Given the description of an element on the screen output the (x, y) to click on. 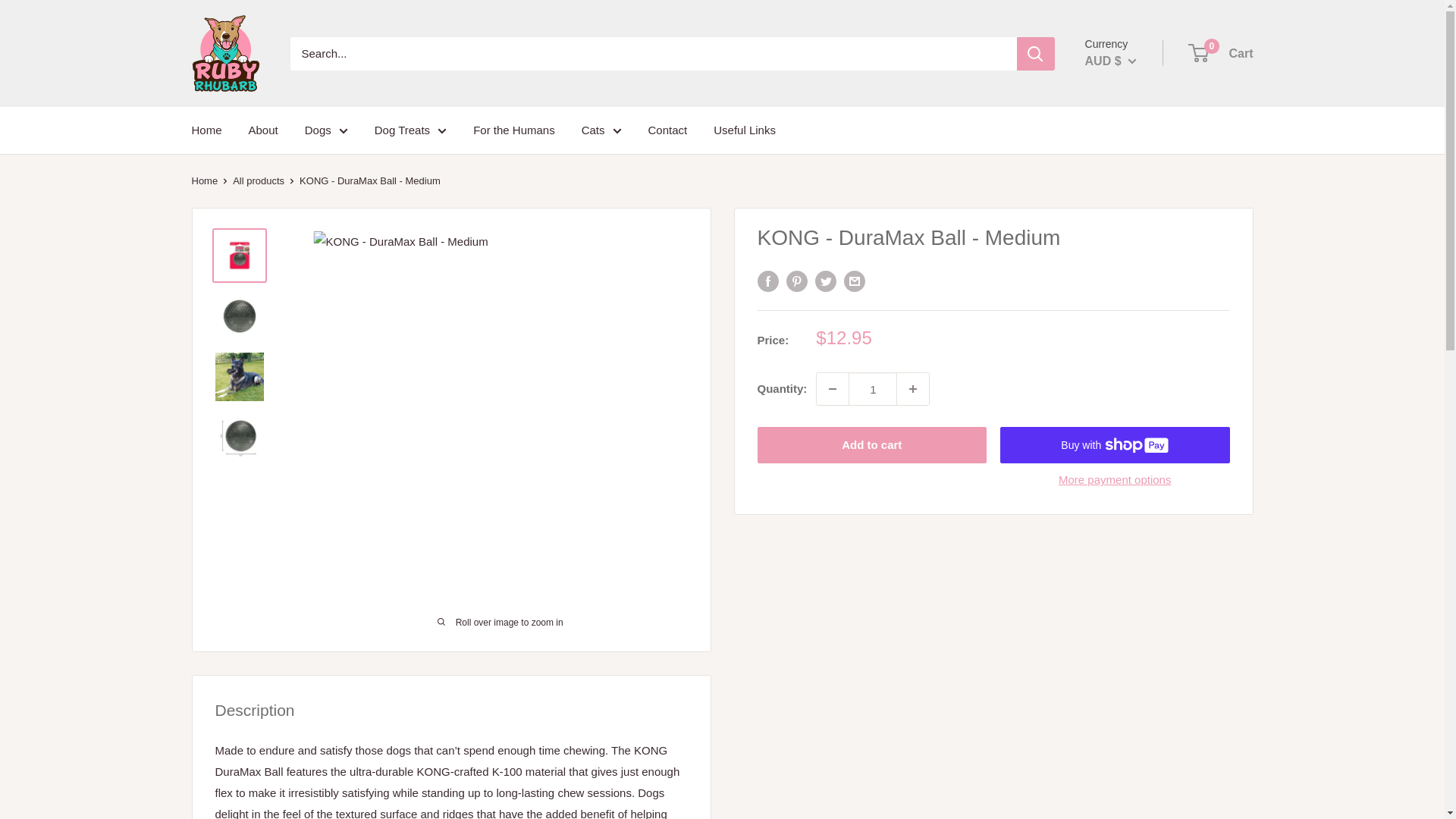
Decrease quantity by 1 (832, 388)
1 (872, 388)
Increase quantity by 1 (912, 388)
